Given the description of an element on the screen output the (x, y) to click on. 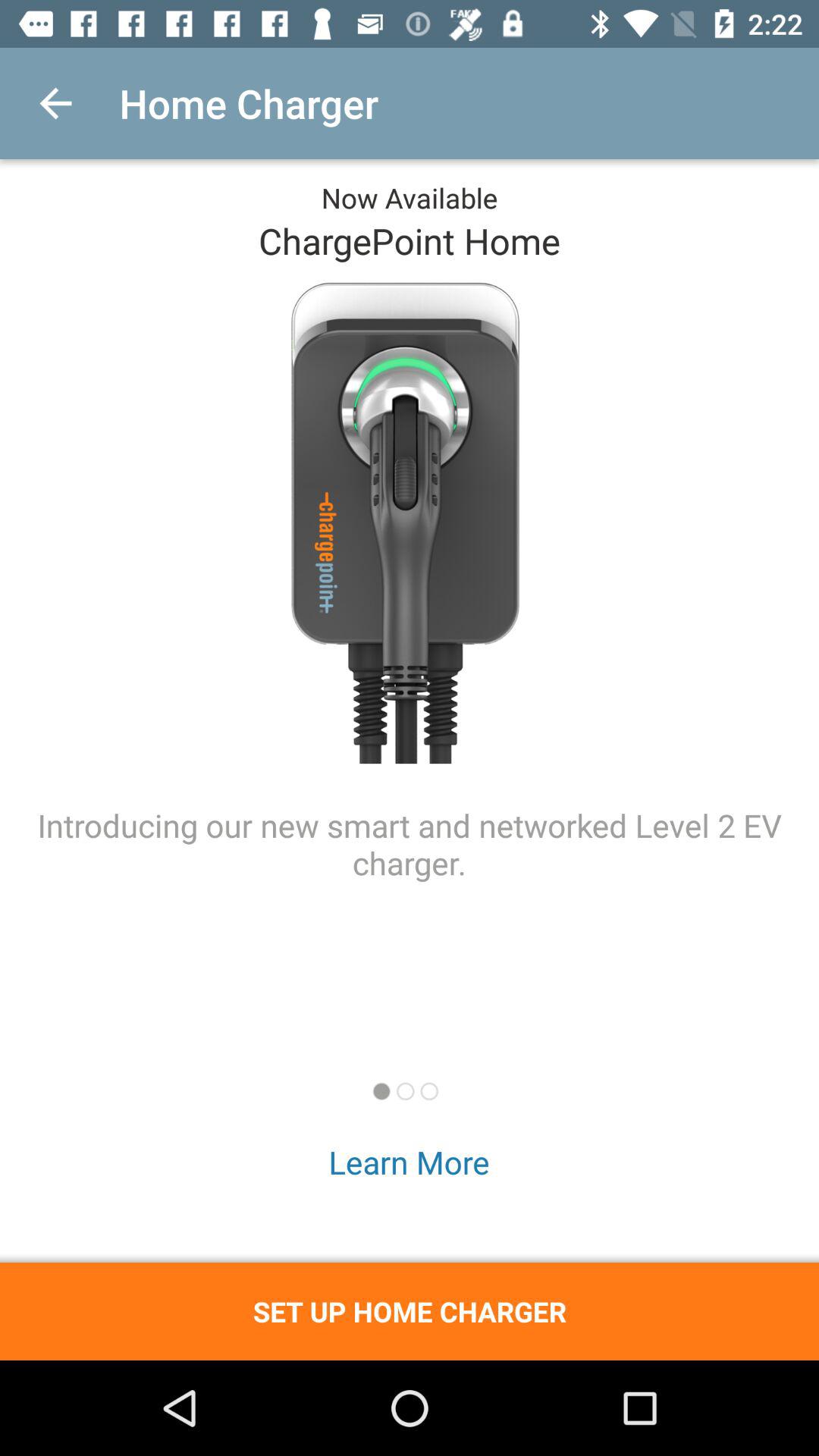
turn off set up home (409, 1311)
